Given the description of an element on the screen output the (x, y) to click on. 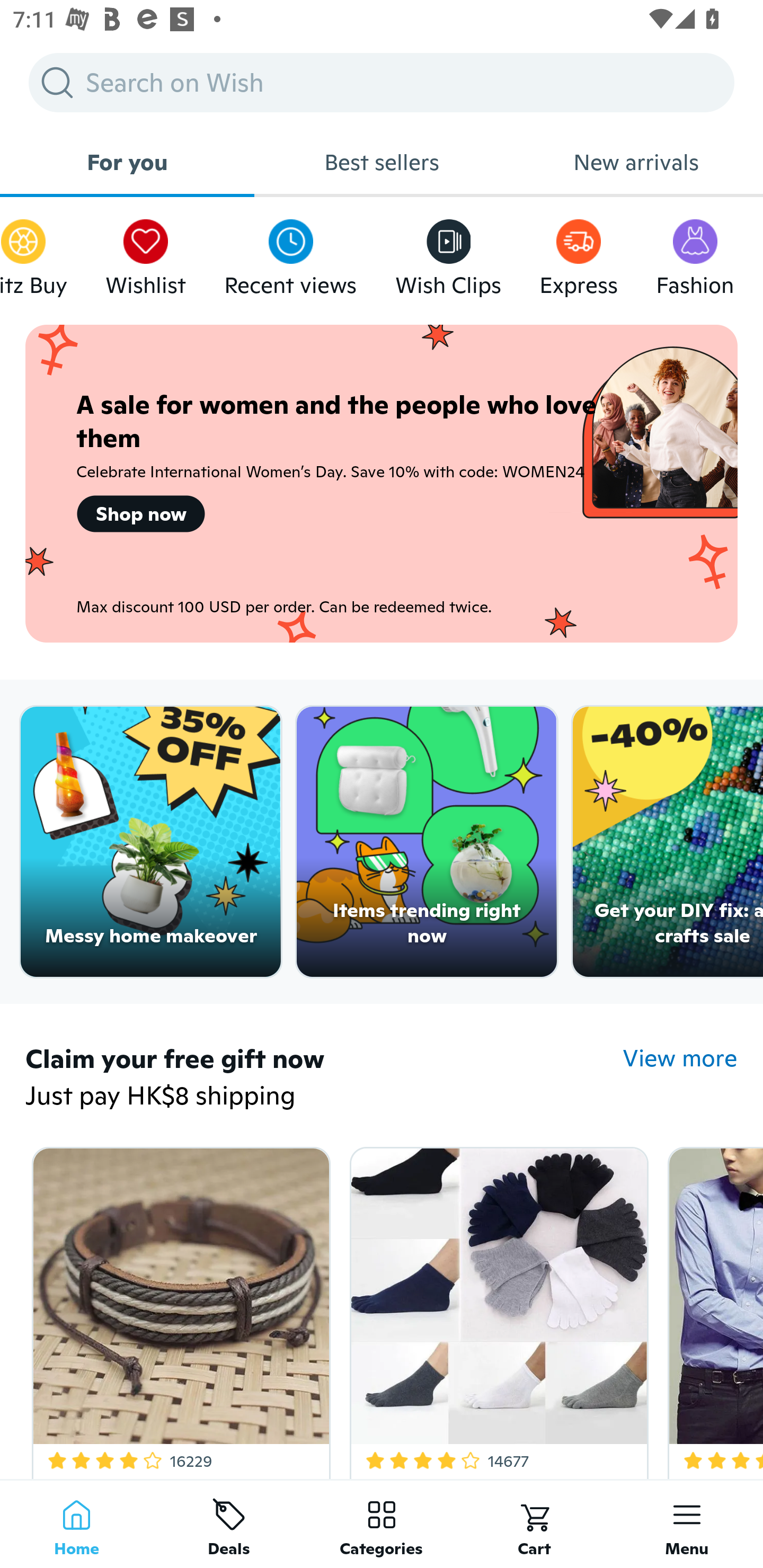
Search on Wish (381, 82)
For you (127, 161)
Best sellers (381, 161)
New arrivals (635, 161)
Blitz Buy (33, 252)
Wishlist (145, 252)
Recent views (290, 252)
Wish Clips (448, 252)
Express (578, 252)
Fashion (695, 252)
Messy home makeover (150, 841)
Items trending right now (426, 841)
Get your DIY fix: arts & crafts sale (668, 841)
Claim your free gift now
Just pay HK$8 shipping (323, 1078)
View more (679, 1058)
3.8 Star Rating 16229 Free (177, 1308)
4.2 Star Rating 14677 Free (495, 1308)
Home (76, 1523)
Deals (228, 1523)
Categories (381, 1523)
Cart (533, 1523)
Menu (686, 1523)
